Given the description of an element on the screen output the (x, y) to click on. 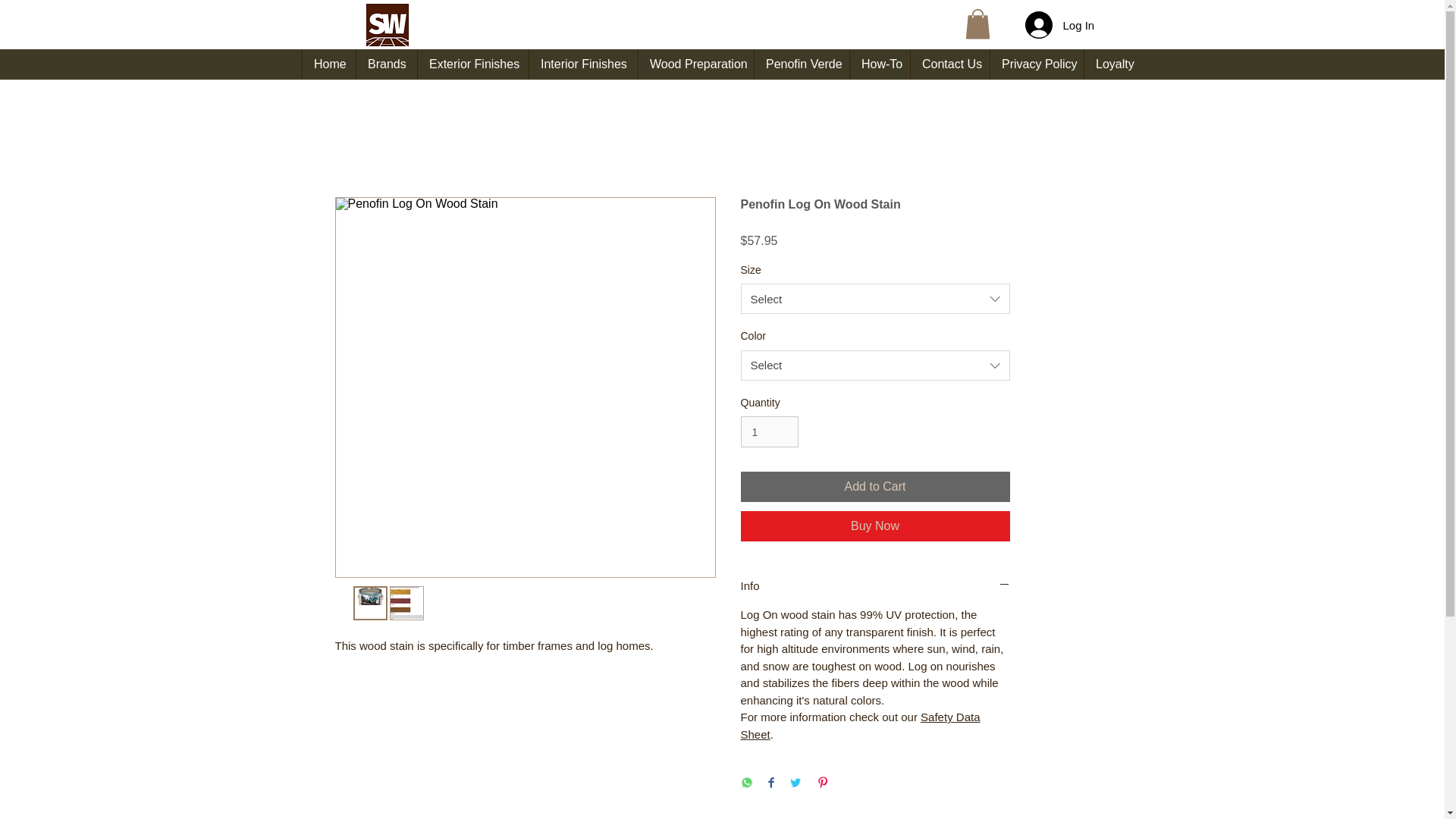
How-To (879, 64)
Contact Us (950, 64)
Exterior Finishes (472, 64)
1 (768, 431)
Select (874, 365)
Privacy Policy (1036, 64)
Add to Cart (874, 486)
Buy Now (874, 526)
Safety Data Sheet (859, 725)
Info (874, 585)
